Given the description of an element on the screen output the (x, y) to click on. 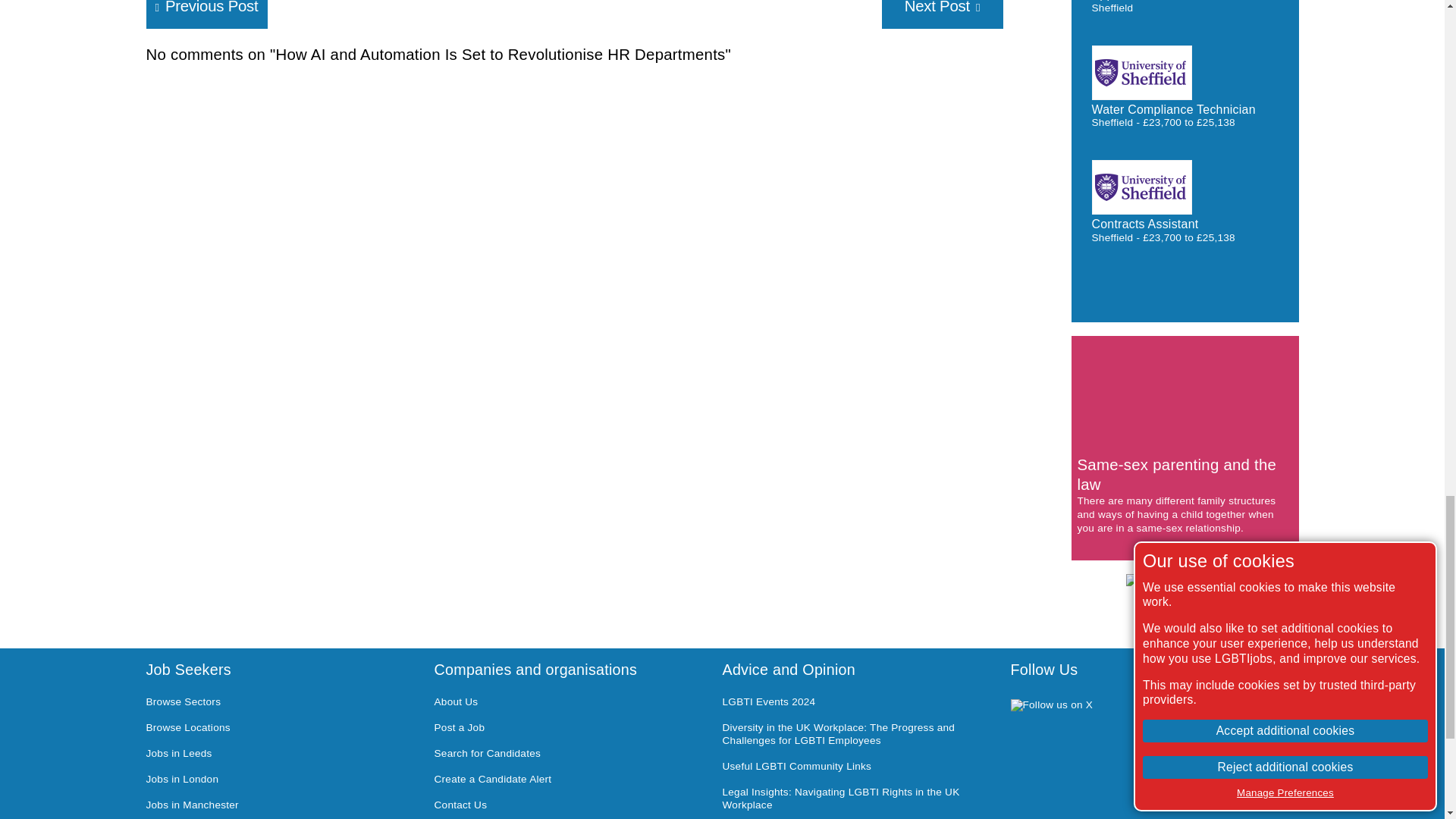
The University of Sheffield (1142, 186)
Water Compliance Technician (1173, 109)
Next Post (941, 14)
The University of Sheffield (1142, 72)
Contracts Assistant (1145, 223)
Previous Post (205, 14)
